Given the description of an element on the screen output the (x, y) to click on. 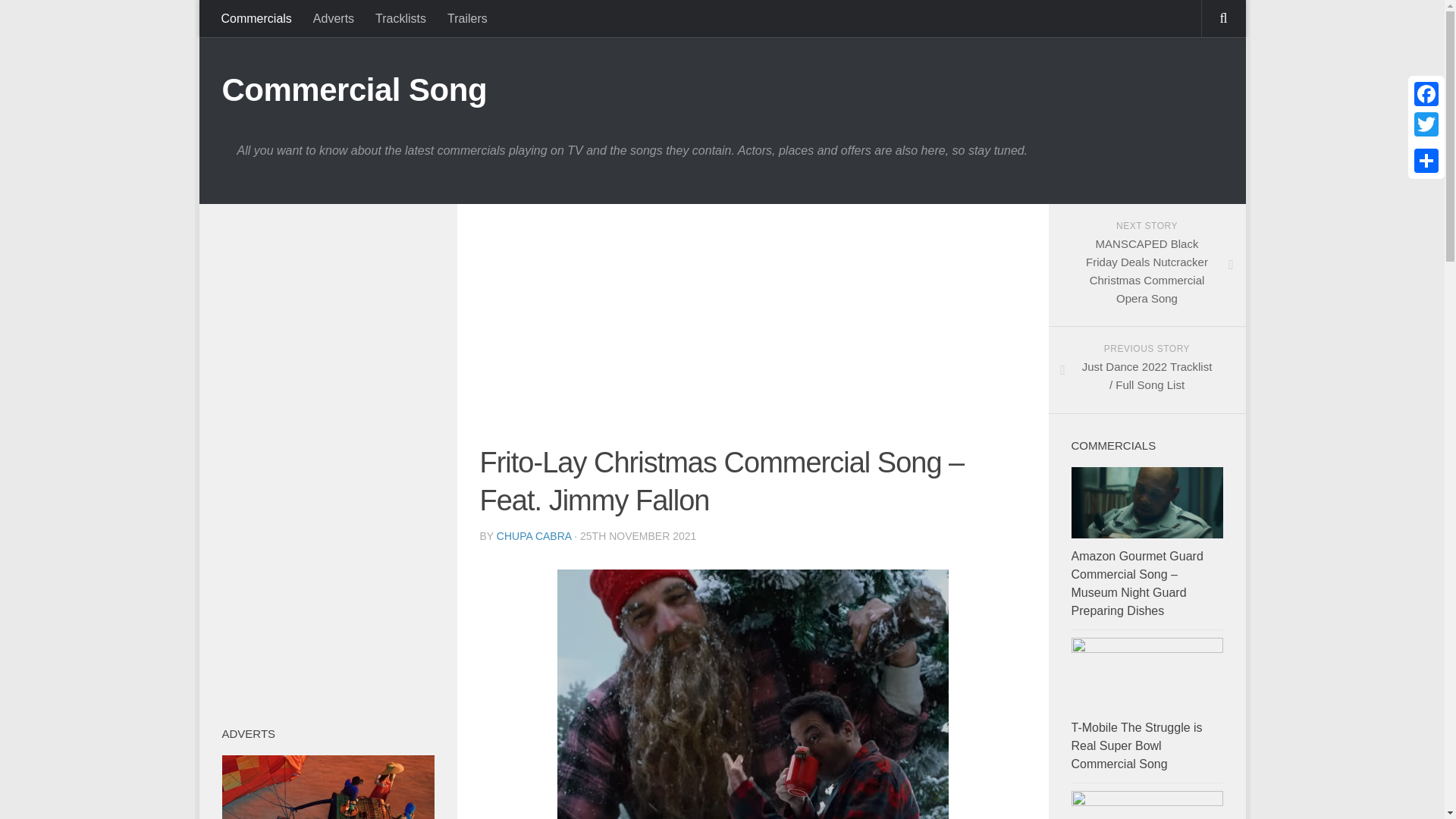
Trailers (466, 18)
Commercials (256, 18)
Glenmorangie Original Hot Air Baloon Advert Song (327, 787)
Commercial Song (353, 90)
Adverts (333, 18)
Tracklists (400, 18)
Posts by Chupa Cabra (534, 535)
CHUPA CABRA (534, 535)
